Given the description of an element on the screen output the (x, y) to click on. 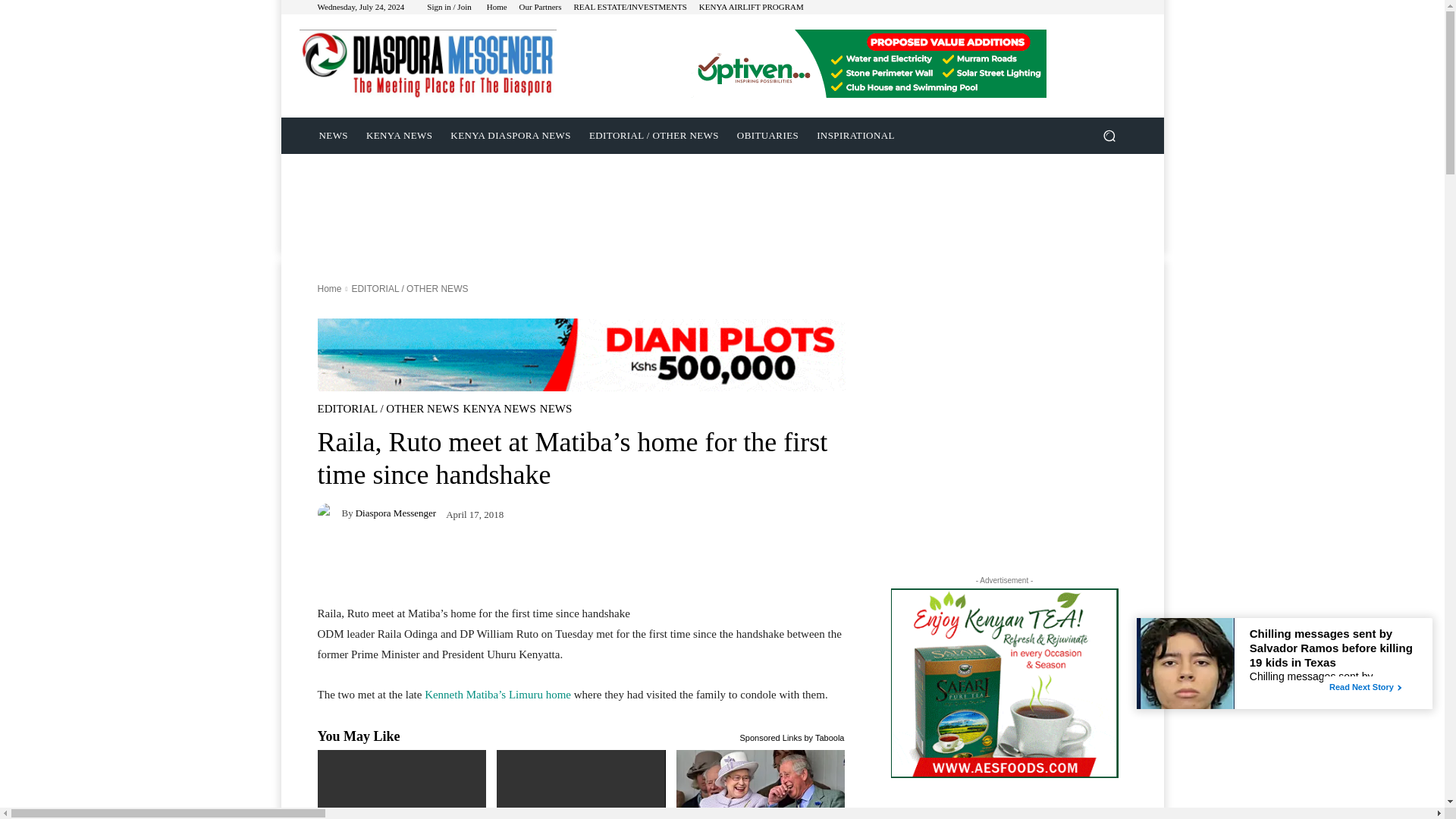
KENYA DIASPORA NEWS (510, 135)
Home (496, 7)
Advertisement (721, 187)
Diaspora Messenger (427, 64)
Diaspora Messenger (395, 512)
KENYA NEWS (499, 408)
KENYA NEWS (398, 135)
NEWS (332, 135)
Our Partners (540, 7)
KENYA AIRLIFT PROGRAM (750, 7)
Home (328, 288)
NEWS (556, 408)
INSPIRATIONAL (856, 135)
Diaspora Messenger (328, 513)
OBITUARIES (768, 135)
